Given the description of an element on the screen output the (x, y) to click on. 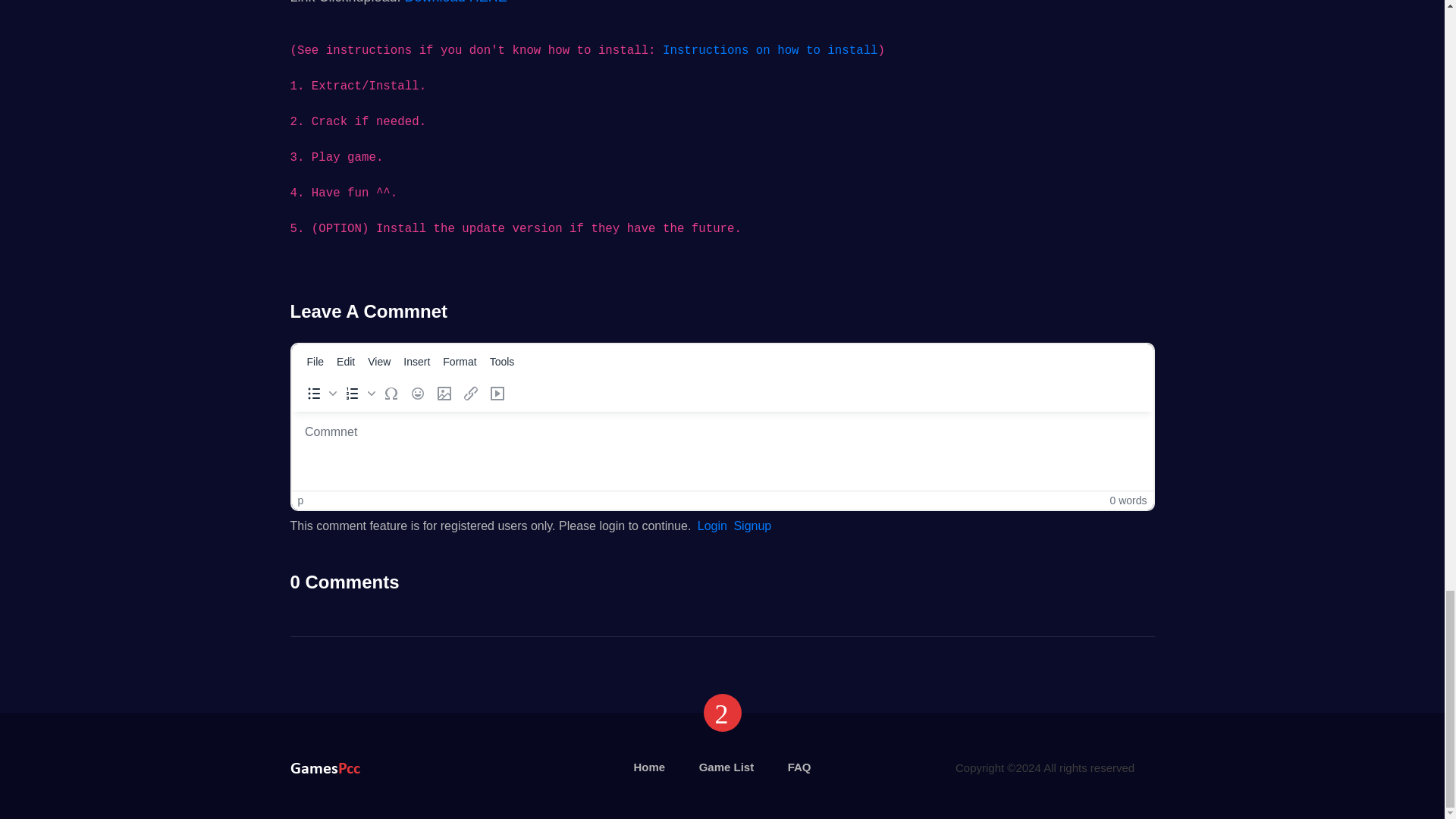
Rich Text Area (722, 450)
Bullet list (318, 393)
Numbered list (358, 393)
Emojis (417, 393)
Special character (390, 393)
